Given the description of an element on the screen output the (x, y) to click on. 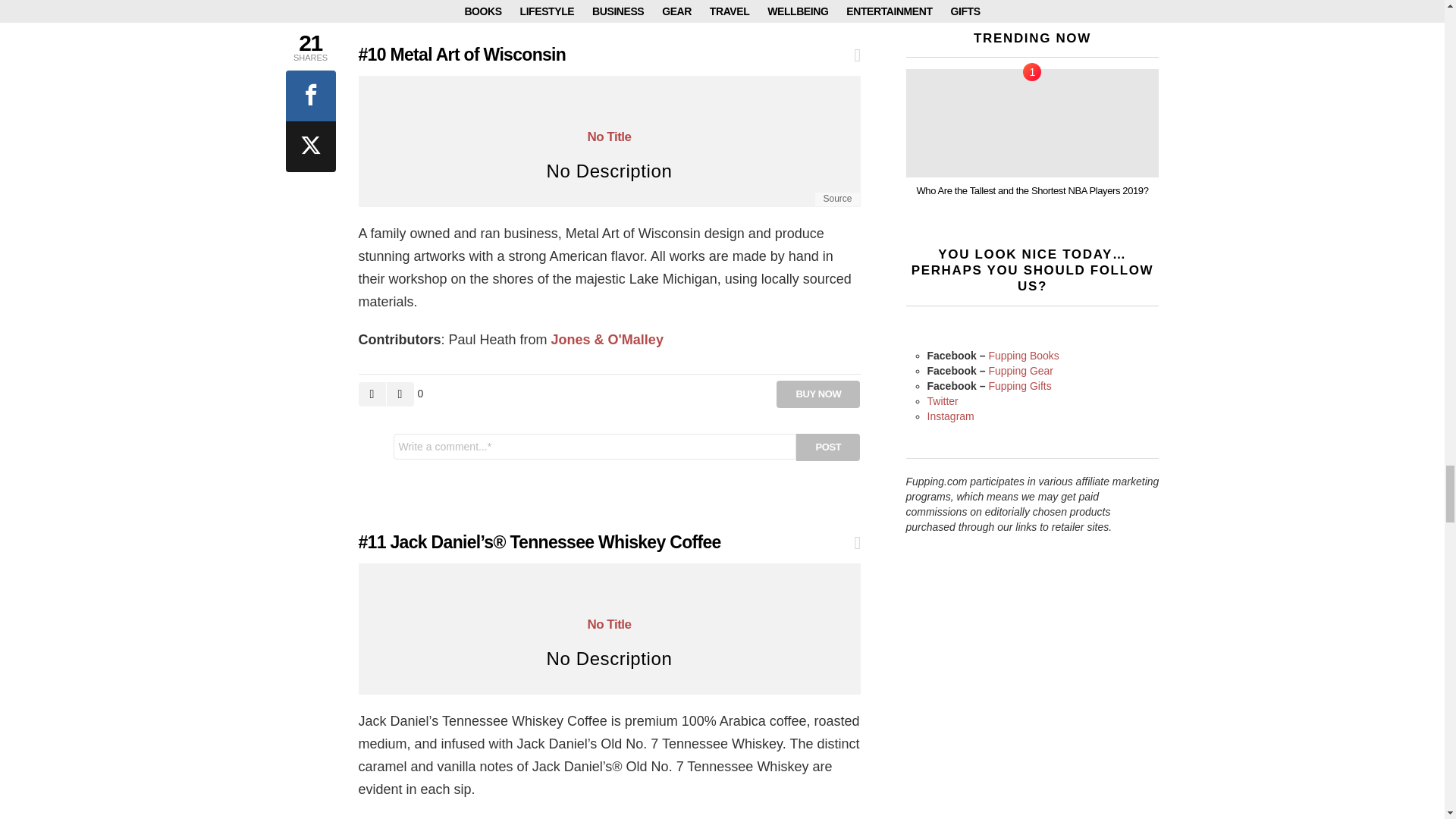
Post (828, 447)
